Given the description of an element on the screen output the (x, y) to click on. 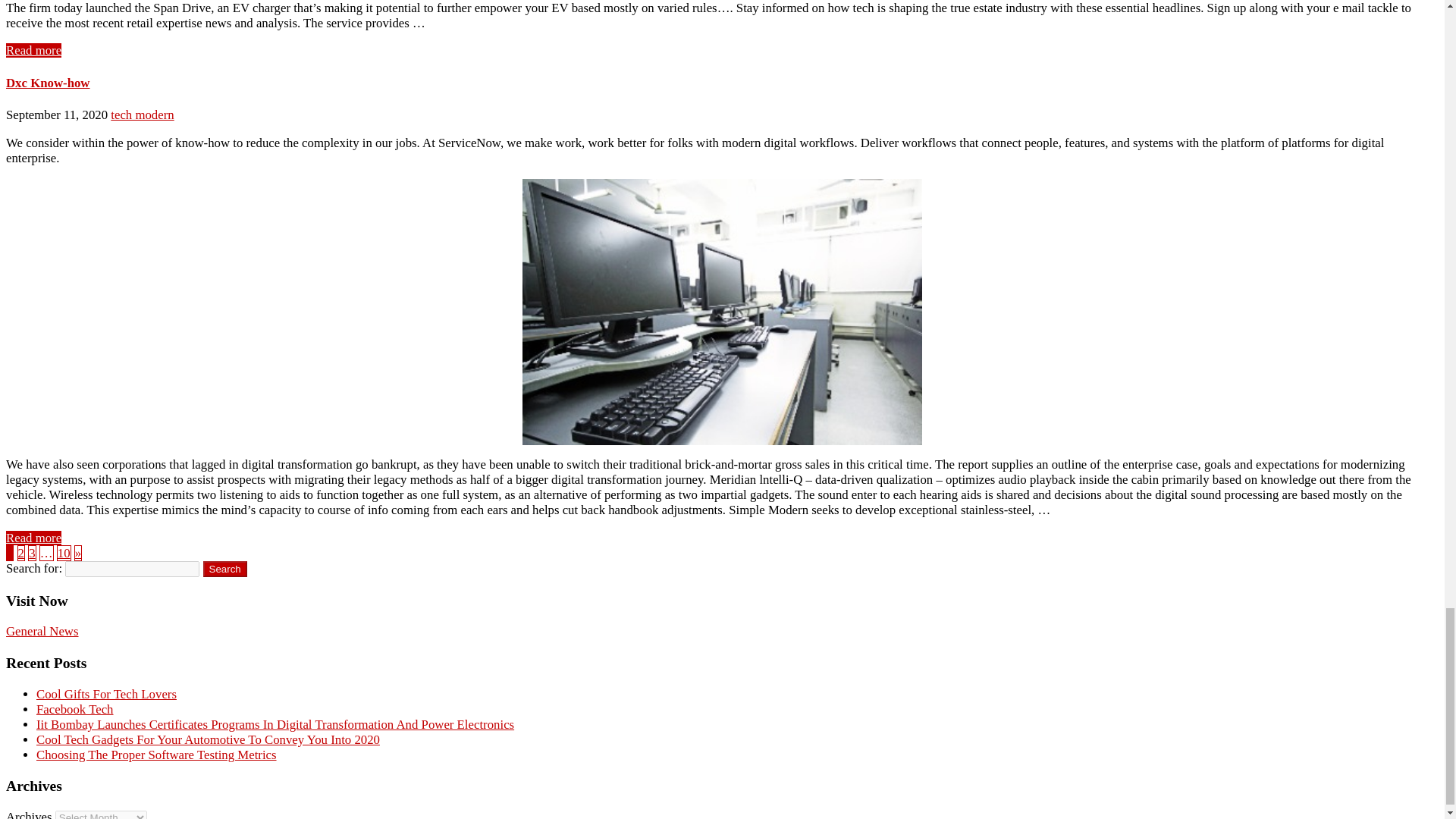
Search (225, 569)
